Given the description of an element on the screen output the (x, y) to click on. 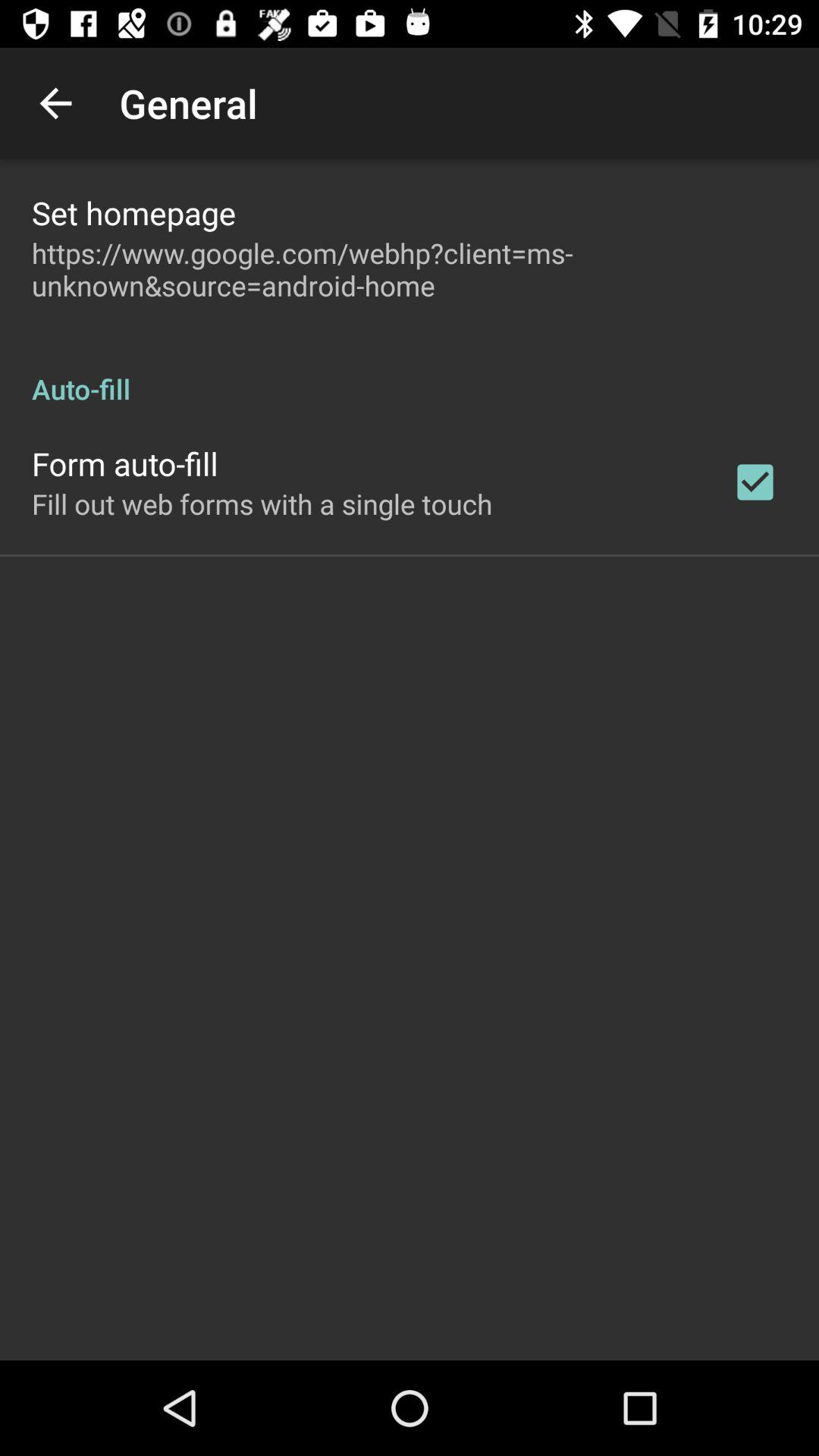
tap app below set homepage icon (409, 269)
